Given the description of an element on the screen output the (x, y) to click on. 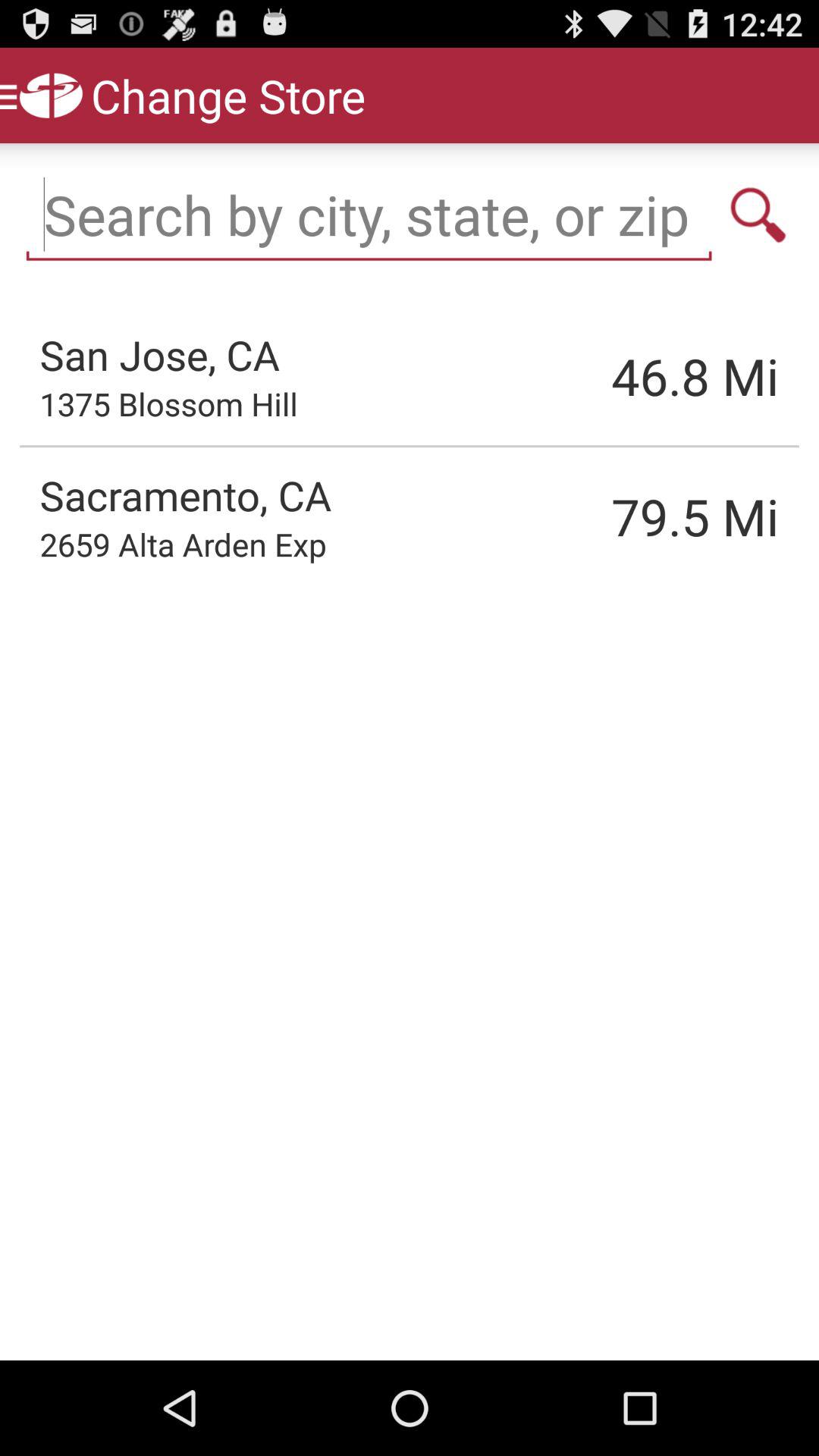
choose item to the left of the 79.5 icon (182, 543)
